Given the description of an element on the screen output the (x, y) to click on. 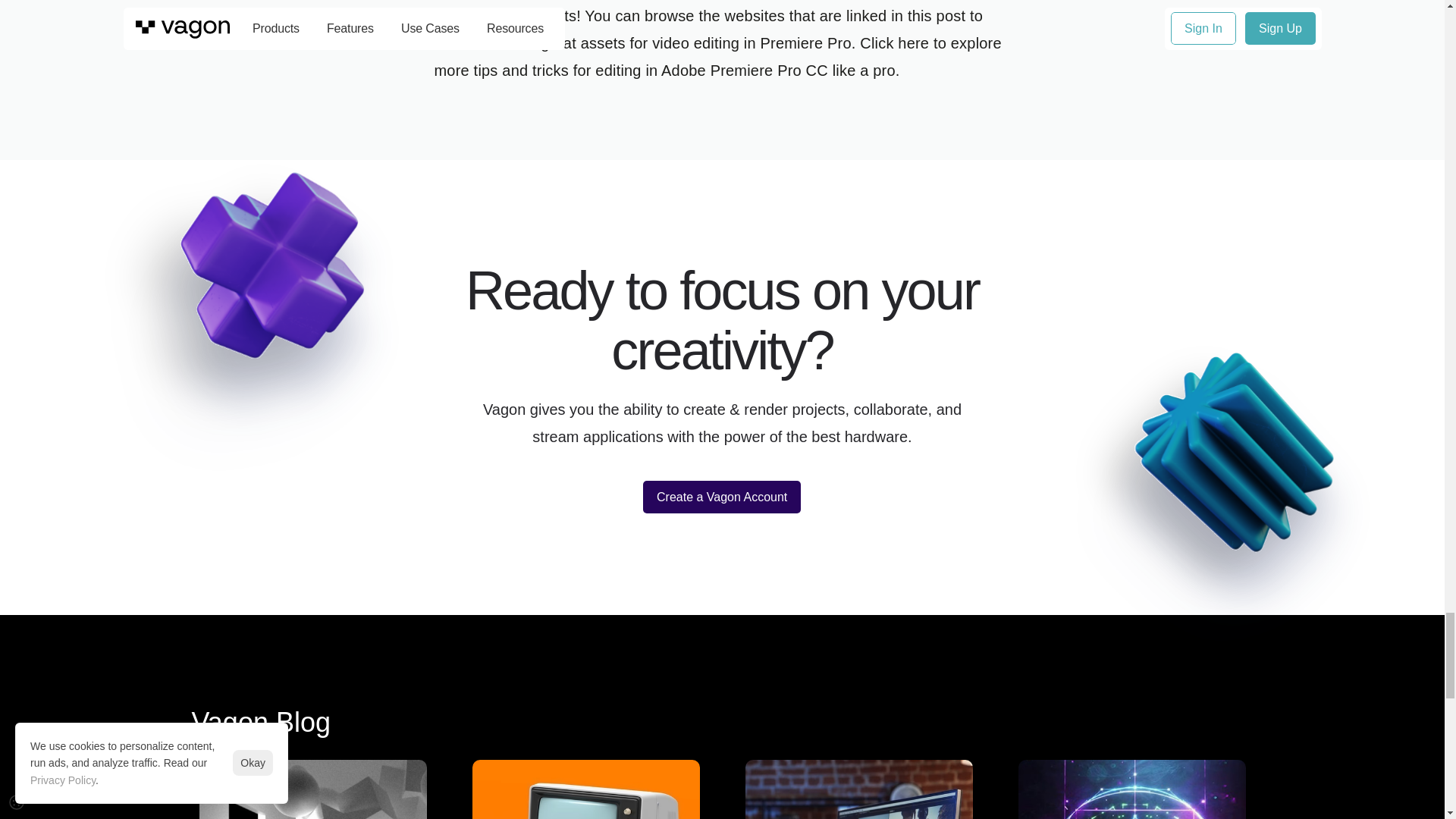
Click here (1131, 785)
Create a Vagon Account (894, 43)
